Given the description of an element on the screen output the (x, y) to click on. 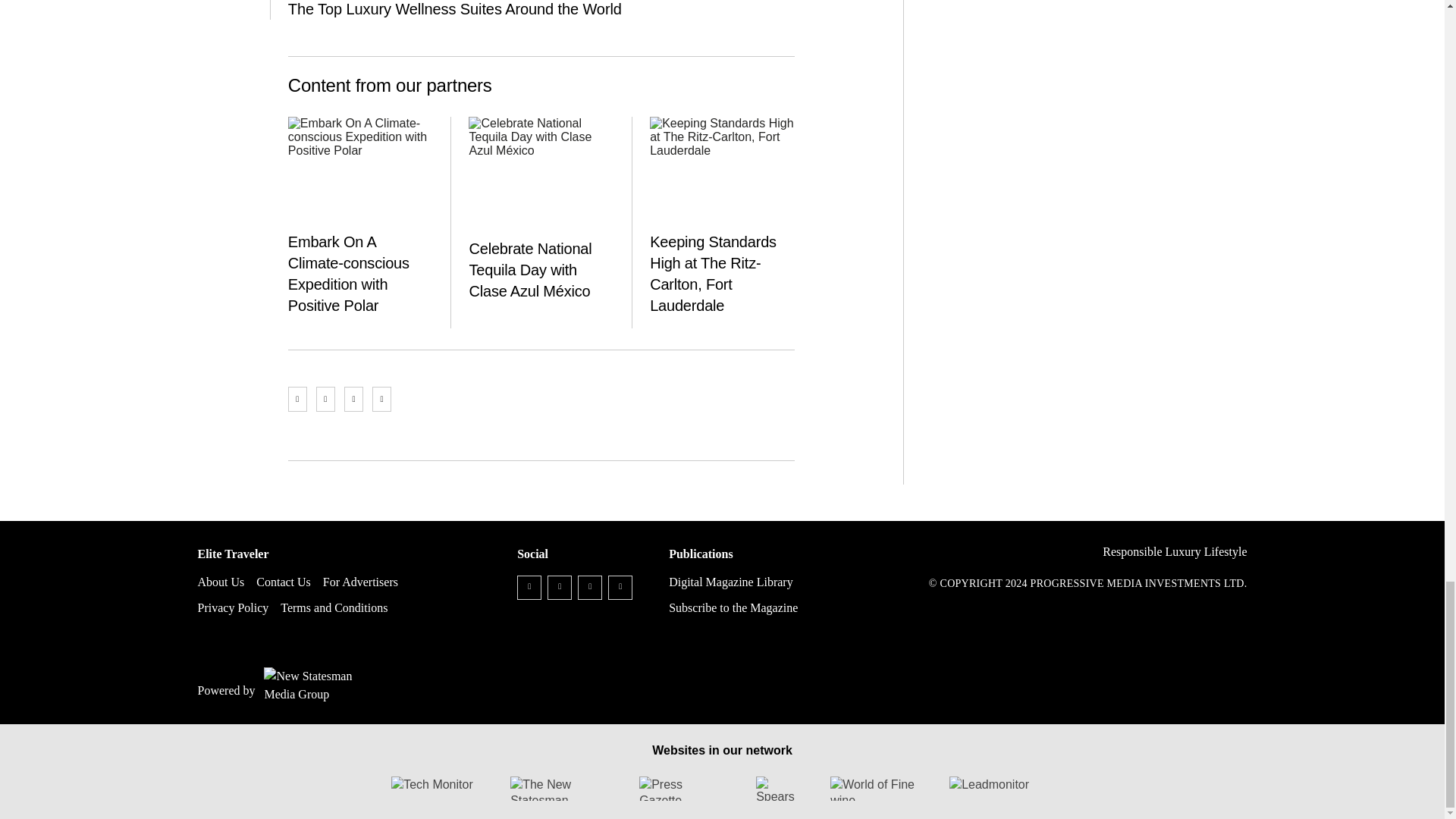
Follow us on Twitter (559, 587)
Embark On A Climate-conscious Expedition with Positive Polar (360, 171)
Follow us on Facebook (528, 587)
Follow us on LinkedIn (590, 587)
Keeping Standards High at The Ritz-Carlton, Fort Lauderdale (721, 171)
